Given the description of an element on the screen output the (x, y) to click on. 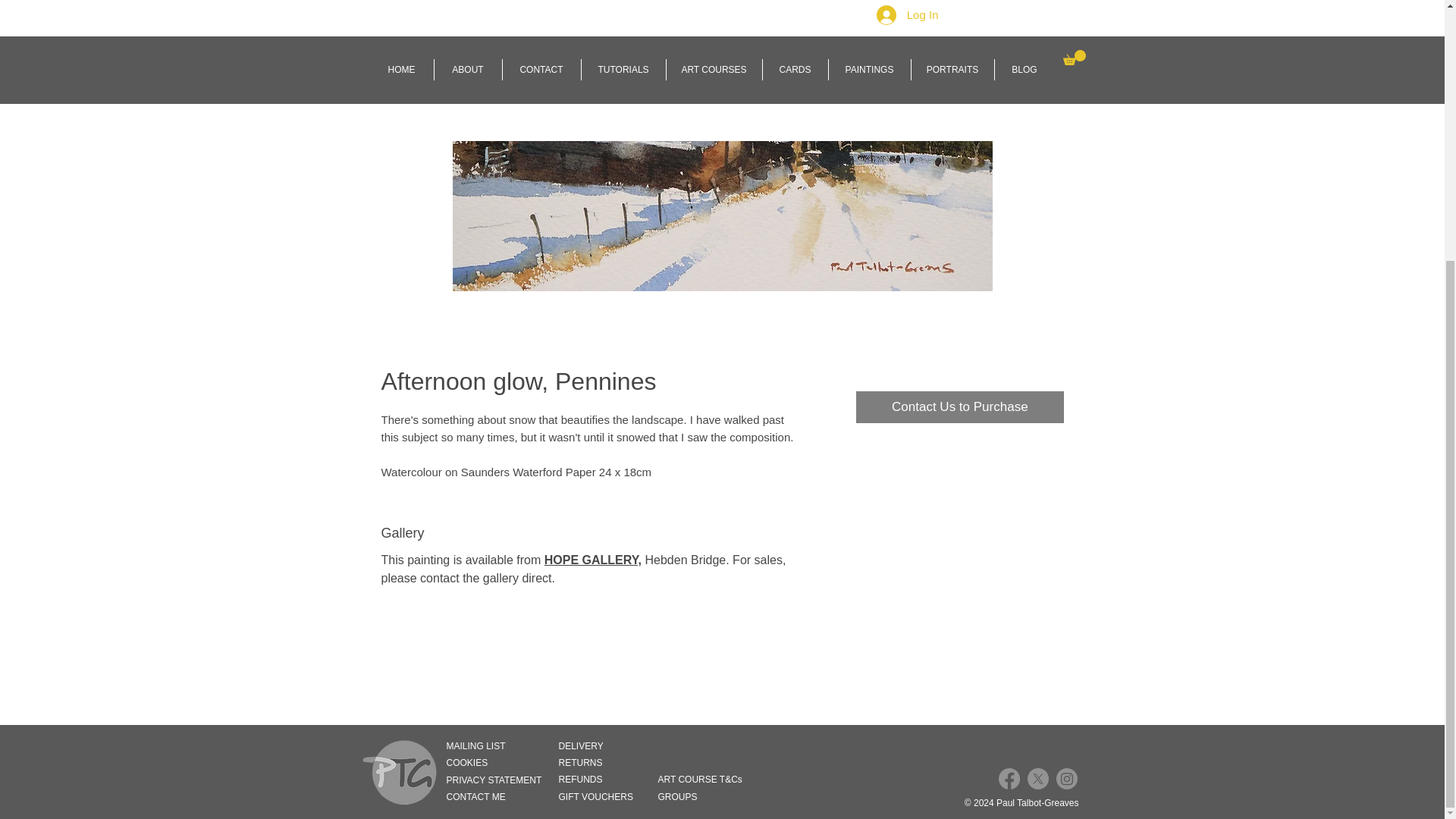
GROUPS (690, 797)
REFUNDS (595, 779)
Contact Us to Purchase (959, 407)
COOKIES (499, 762)
DELIVERY (585, 746)
PRIVACY STATEMENT (499, 780)
MAILING LIST (499, 745)
RETURNS (585, 762)
CONTACT ME (499, 797)
GIFT VOUCHERS (597, 797)
HOPE GALLERY, (593, 559)
